Given the description of an element on the screen output the (x, y) to click on. 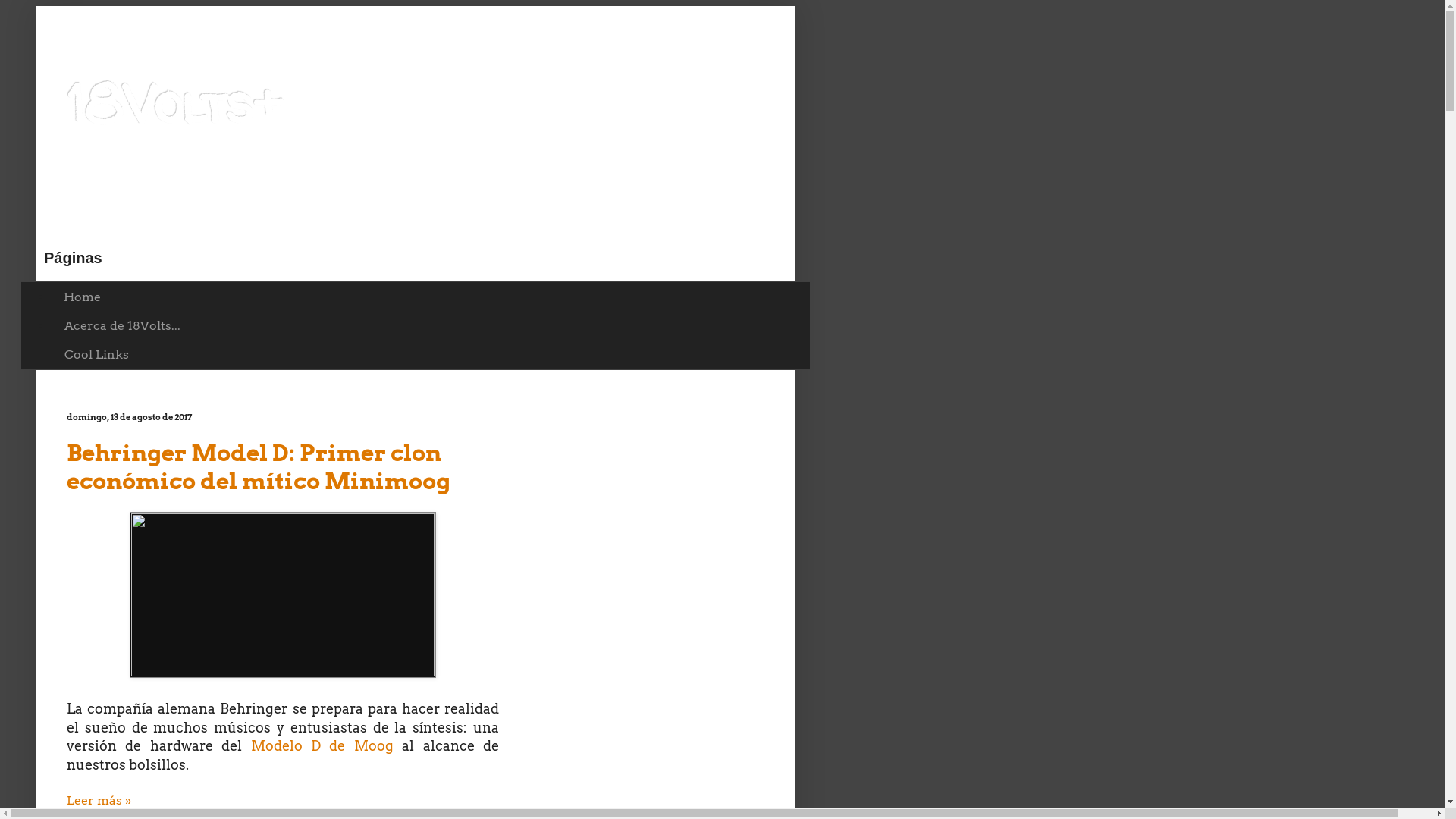
Acerca de 18Volts... Element type: text (121, 324)
18Volts+ Element type: text (174, 102)
Cool Links Element type: text (96, 353)
Home Element type: text (81, 296)
Modelo D de Moog Element type: text (322, 745)
